Given the description of an element on the screen output the (x, y) to click on. 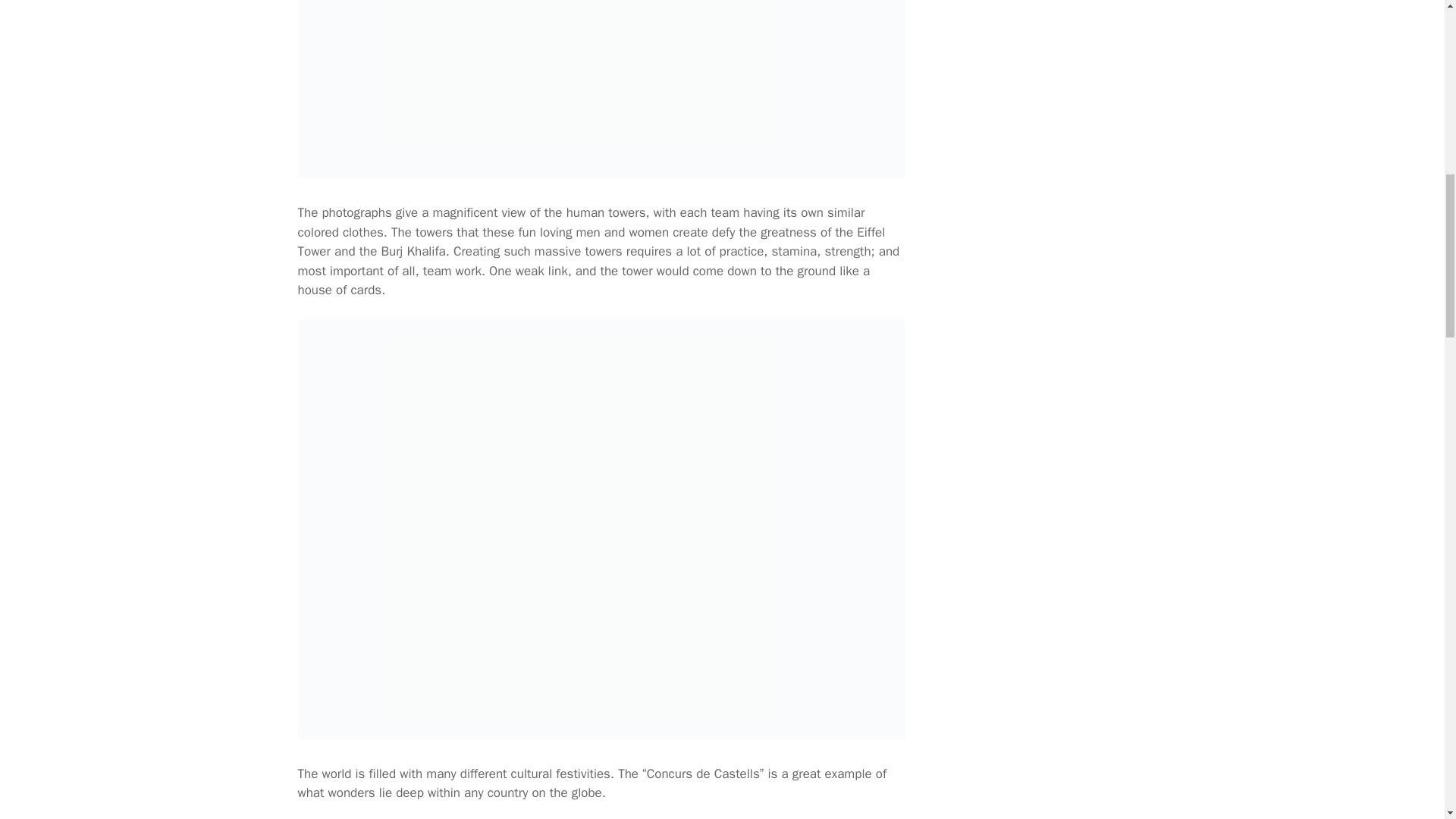
Scroll back to top (1406, 720)
